Given the description of an element on the screen output the (x, y) to click on. 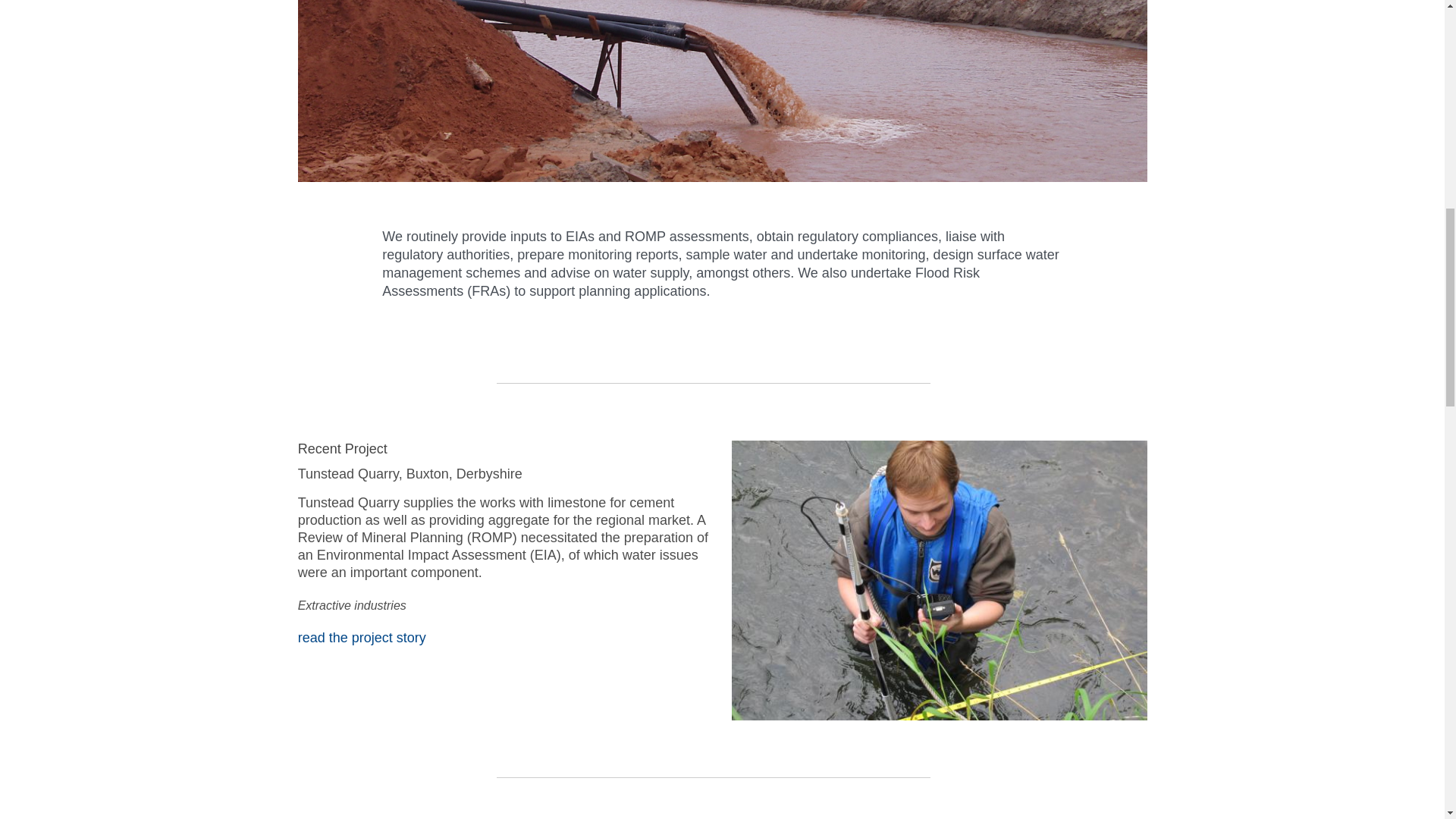
read the project story (362, 637)
